Given the description of an element on the screen output the (x, y) to click on. 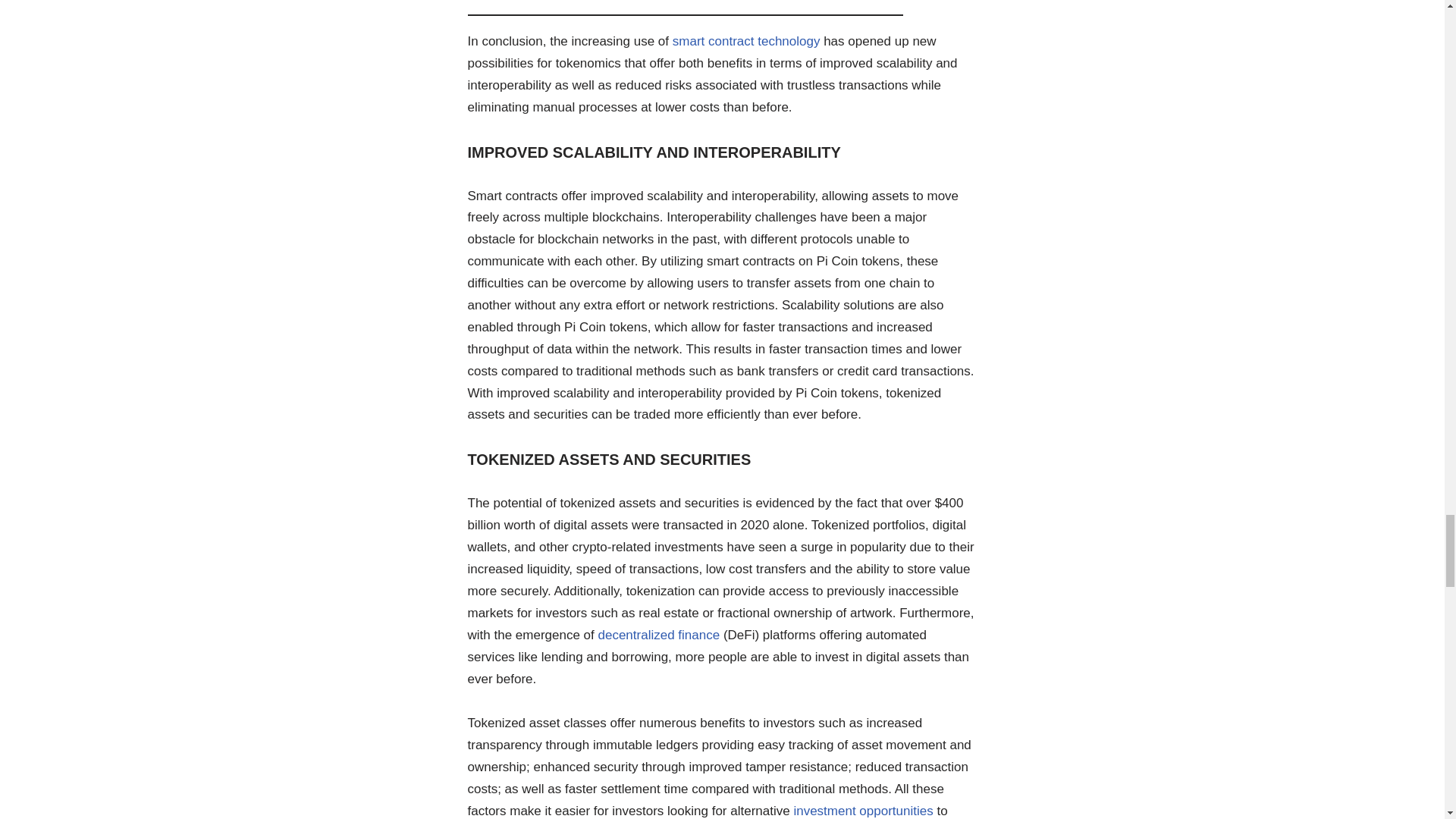
smart contract technology (746, 41)
decentralized finance (657, 635)
investment opportunities (863, 810)
investment opportunities (863, 810)
decentralized finance (657, 635)
smart contract technology (746, 41)
